Given the description of an element on the screen output the (x, y) to click on. 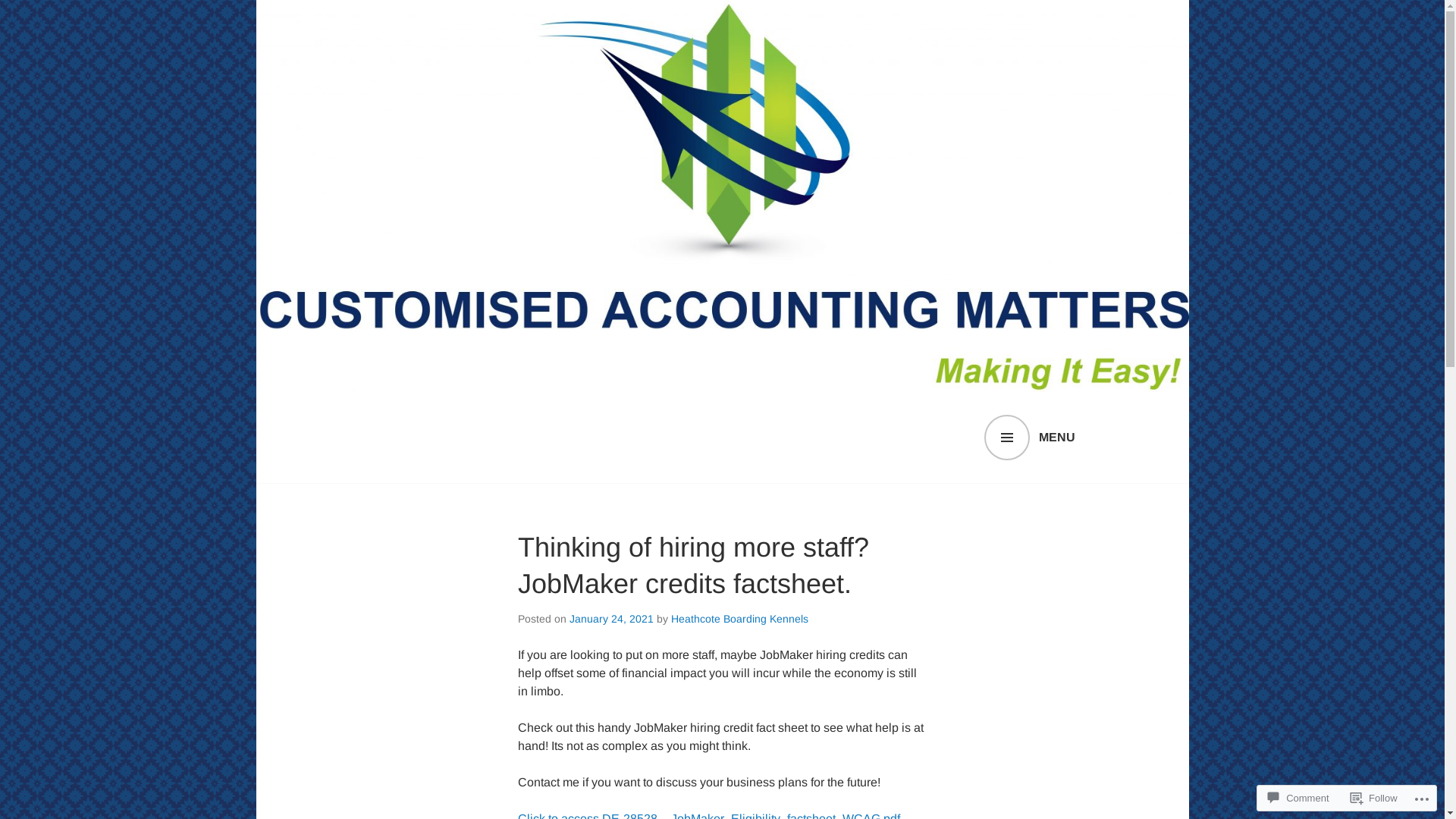
CUSTOMISED ACCOUNTING MATTERS Element type: text (623, 485)
Heathcote Boarding Kennels Element type: text (738, 618)
Follow Element type: text (1373, 797)
January 24, 2021 Element type: text (610, 618)
Comment Element type: text (1297, 797)
MENU Element type: text (1029, 437)
